Given the description of an element on the screen output the (x, y) to click on. 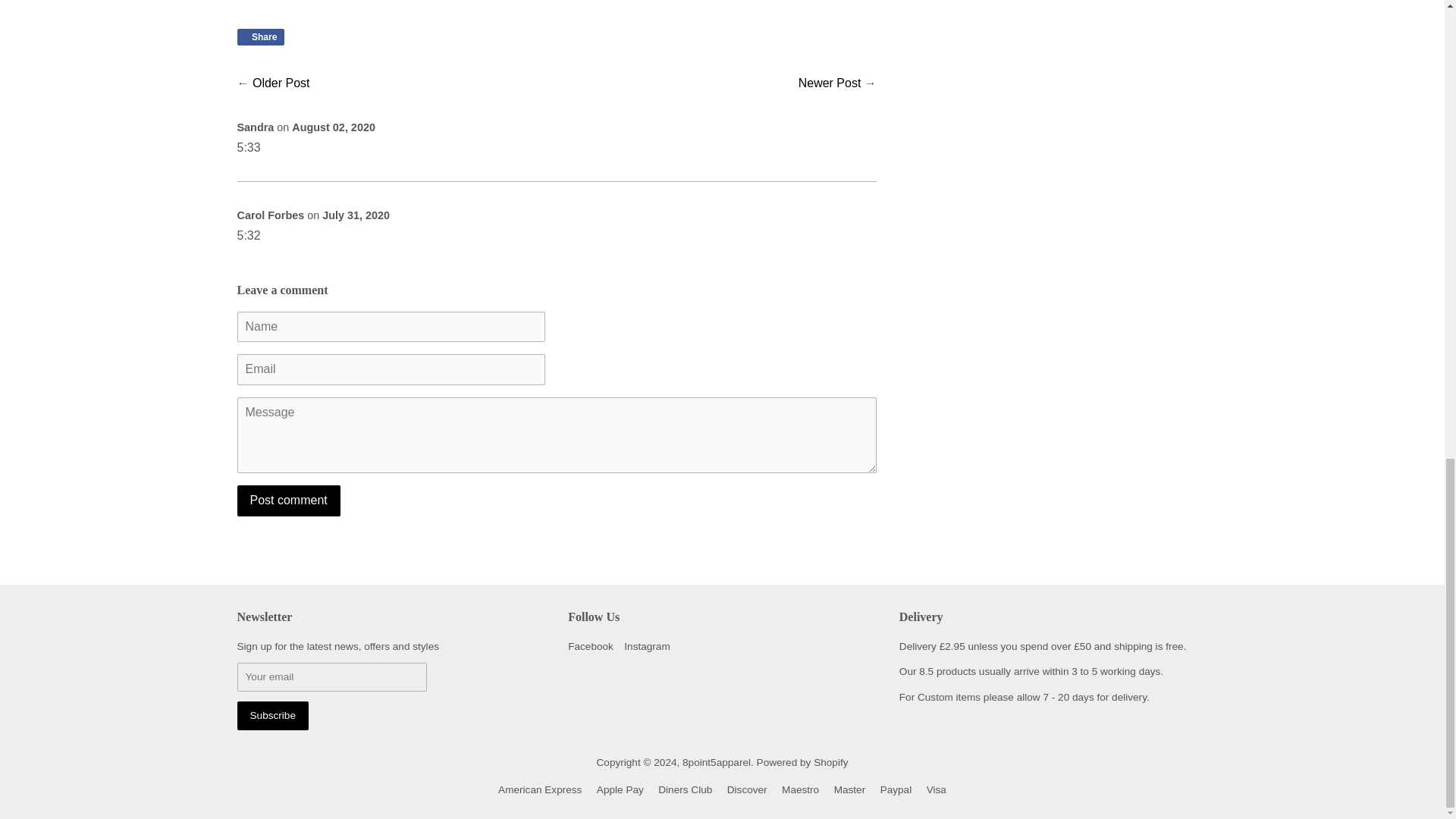
8point5apparel on Instagram (646, 645)
Share on Facebook (259, 36)
8point5apparel on Facebook (589, 645)
Post comment (287, 500)
Subscribe (271, 715)
